Given the description of an element on the screen output the (x, y) to click on. 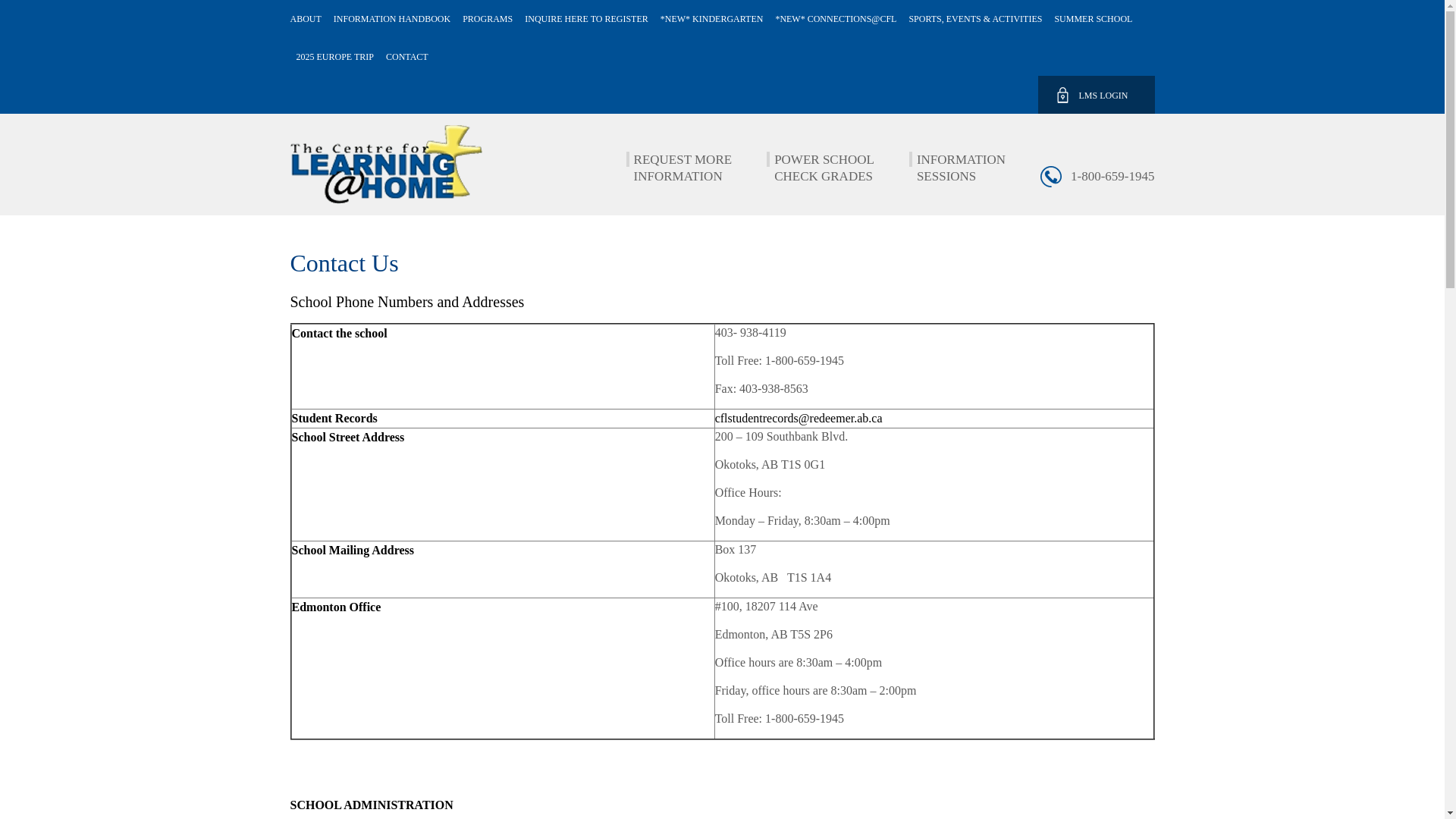
POWER SCHOOL
CHECK GRADES Element type: text (824, 168)
PROGRAMS Element type: text (487, 18)
1-800-659-1945 Element type: text (1112, 176)
SUMMER SCHOOL Element type: text (1093, 18)
REQUEST MORE
INFORMATION Element type: text (682, 168)
INQUIRE HERE TO REGISTER Element type: text (586, 18)
*NEW* CONNECTIONS@CFL Element type: text (835, 18)
cflstudentrecords@redeemer.ab.ca Element type: text (798, 417)
CONTACT Element type: text (403, 56)
ABOUT Element type: text (307, 18)
LMS LOGIN Element type: text (1095, 94)
INFORMATION HANDBOOK Element type: text (391, 18)
*NEW* KINDERGARTEN Element type: text (711, 18)
2025 EUROPE TRIP Element type: text (334, 56)
INFORMATION
SESSIONS Element type: text (960, 168)
SPORTS, EVENTS & ACTIVITIES Element type: text (975, 18)
